Given the description of an element on the screen output the (x, y) to click on. 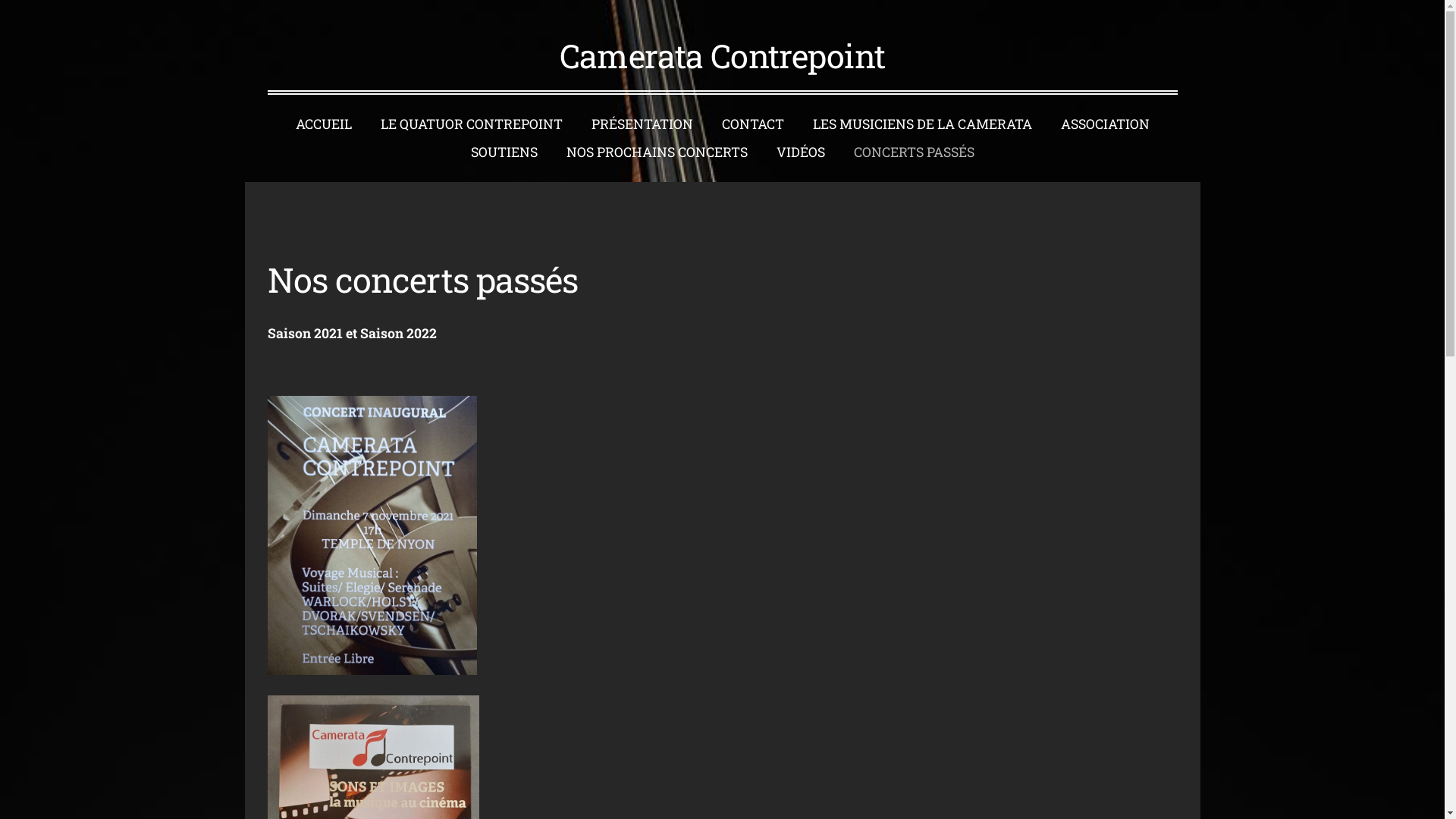
CONTACT Element type: text (752, 124)
NOS PROCHAINS CONCERTS Element type: text (656, 152)
SOUTIENS Element type: text (503, 152)
LES MUSICIENS DE LA CAMERATA Element type: text (922, 124)
LE QUATUOR CONTREPOINT Element type: text (471, 124)
ASSOCIATION Element type: text (1104, 124)
ACCUEIL Element type: text (323, 124)
Camerata Contrepoint Element type: text (721, 63)
